Given the description of an element on the screen output the (x, y) to click on. 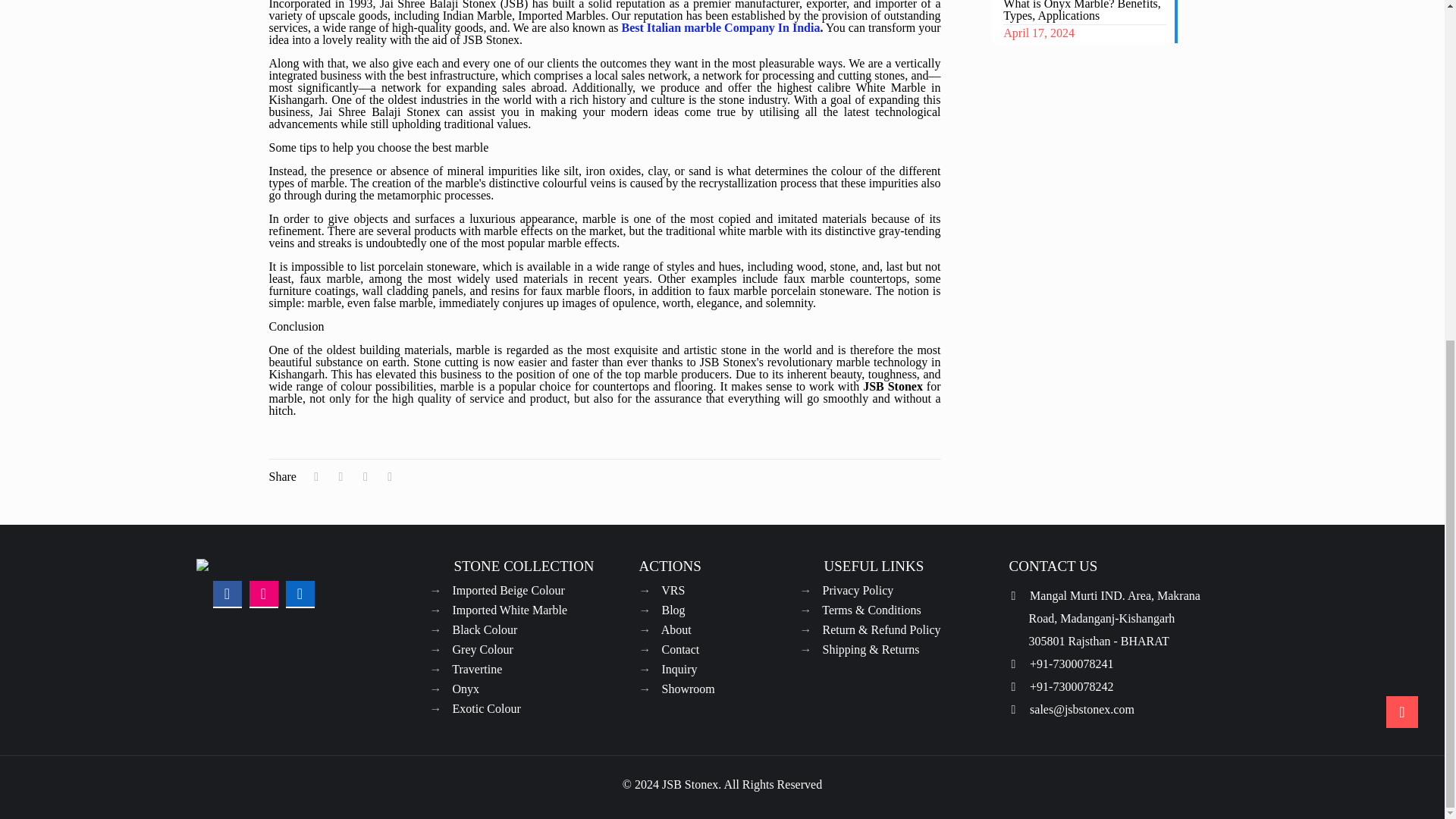
LinkedIn (300, 593)
Instagram (264, 593)
Best Italian marble Company In India (721, 27)
Facebook (227, 593)
